Given the description of an element on the screen output the (x, y) to click on. 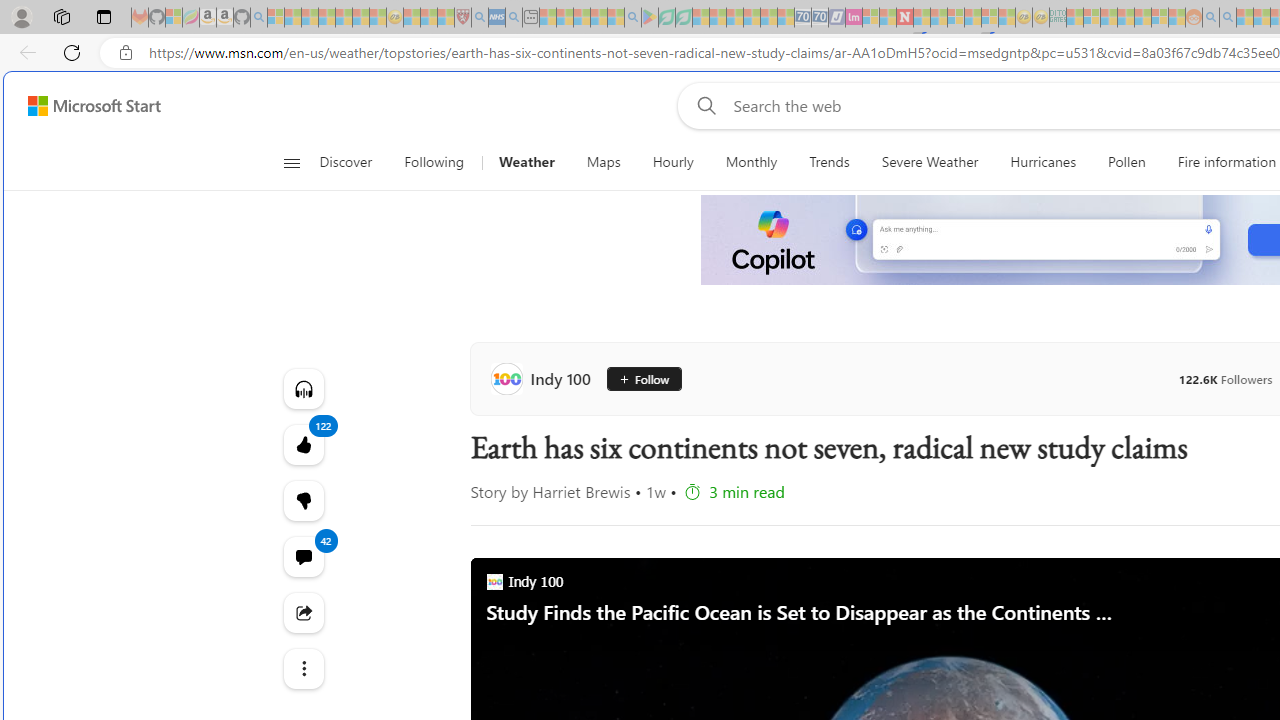
Indy 100 (544, 378)
Severe Weather (929, 162)
122 (302, 500)
Expert Portfolios - Sleeping (1125, 17)
Fire information (1227, 162)
